Given the description of an element on the screen output the (x, y) to click on. 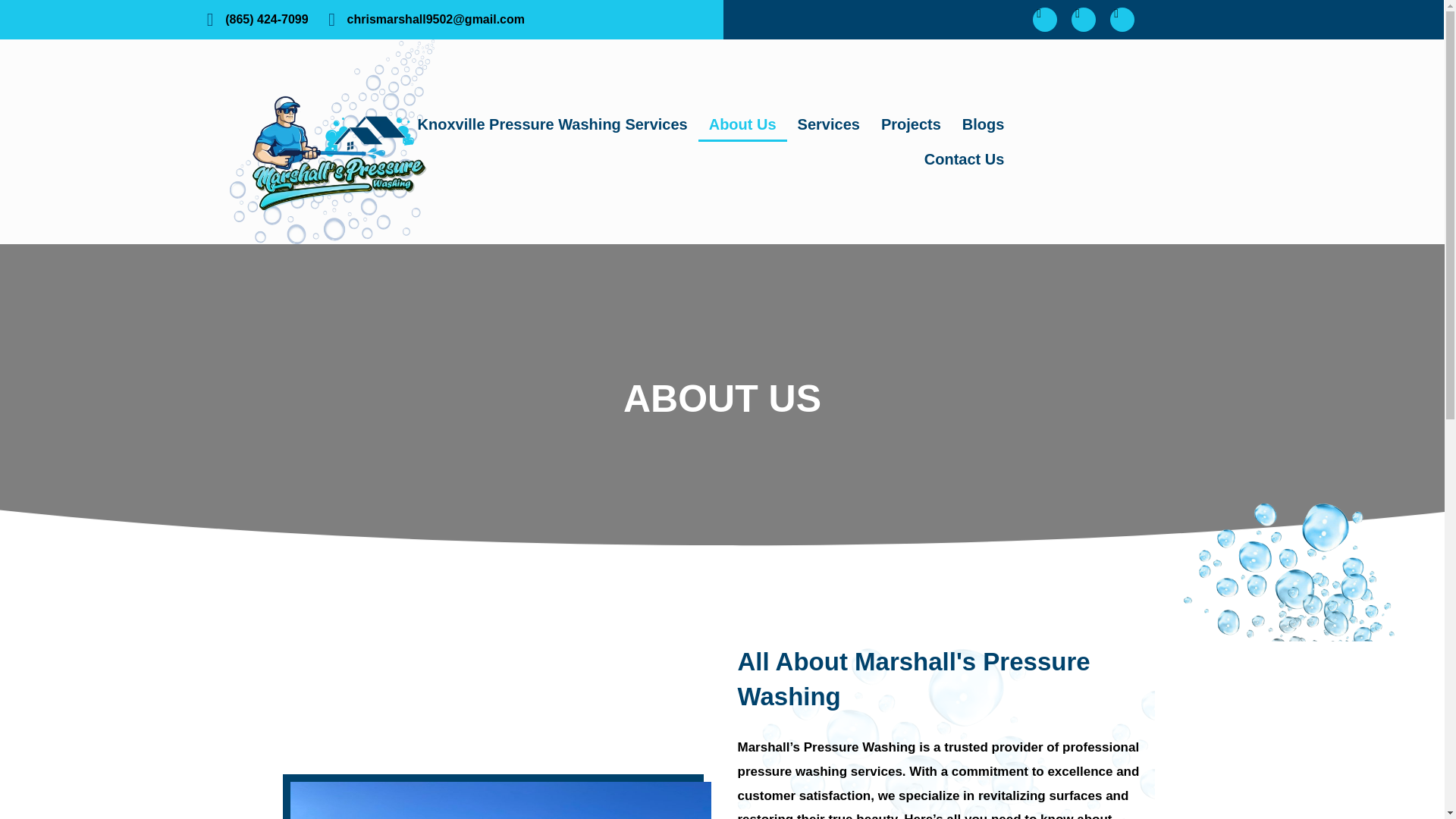
Contact Us (964, 158)
Knoxville Pressure Washing Services (552, 124)
Blogs (983, 124)
Facebook (1044, 19)
Projects (911, 124)
About Us (742, 124)
Instagram (1083, 19)
Linkedin (1121, 19)
Services (828, 124)
